Given the description of an element on the screen output the (x, y) to click on. 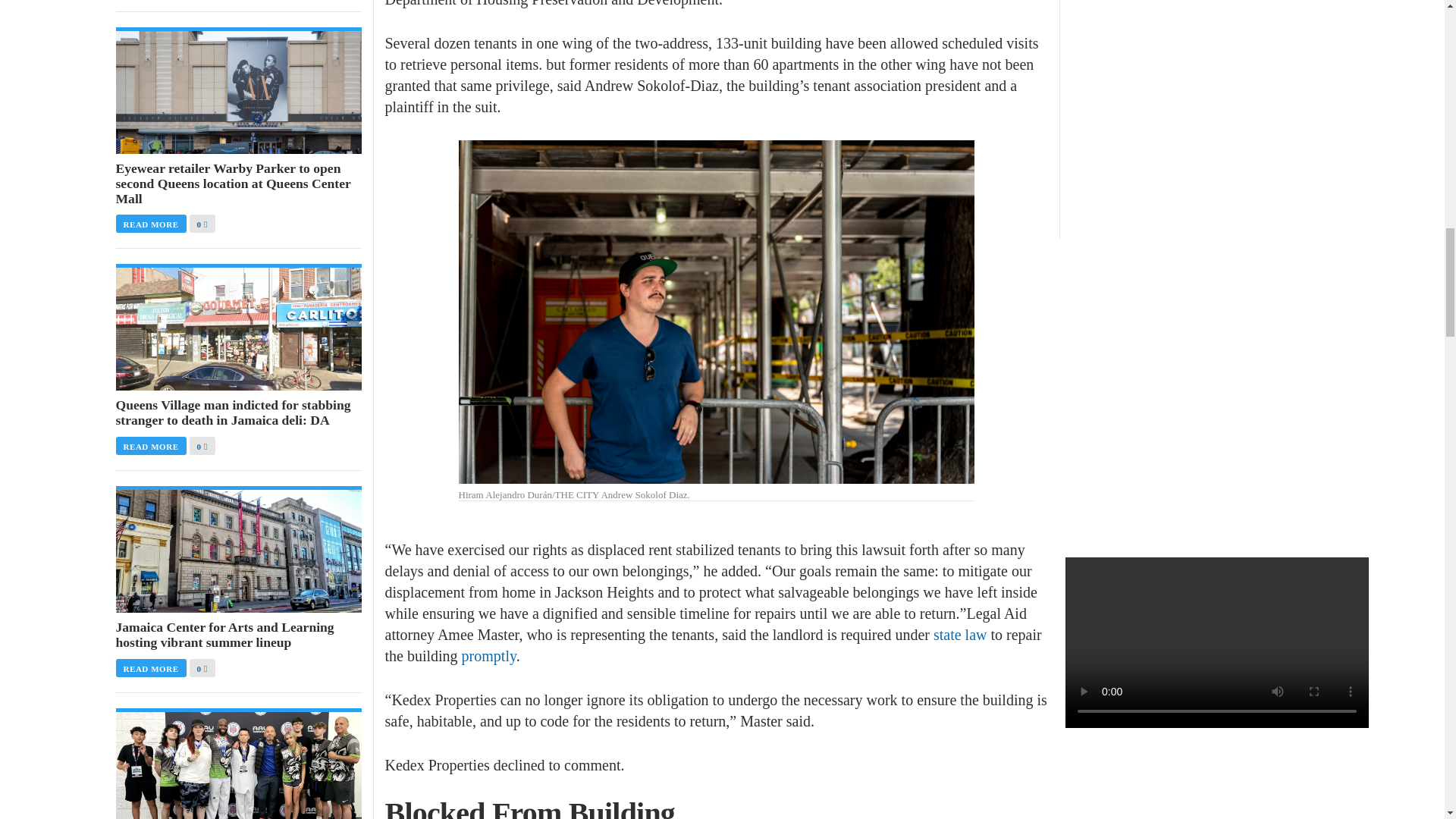
state law (960, 634)
promptly (488, 655)
